Given the description of an element on the screen output the (x, y) to click on. 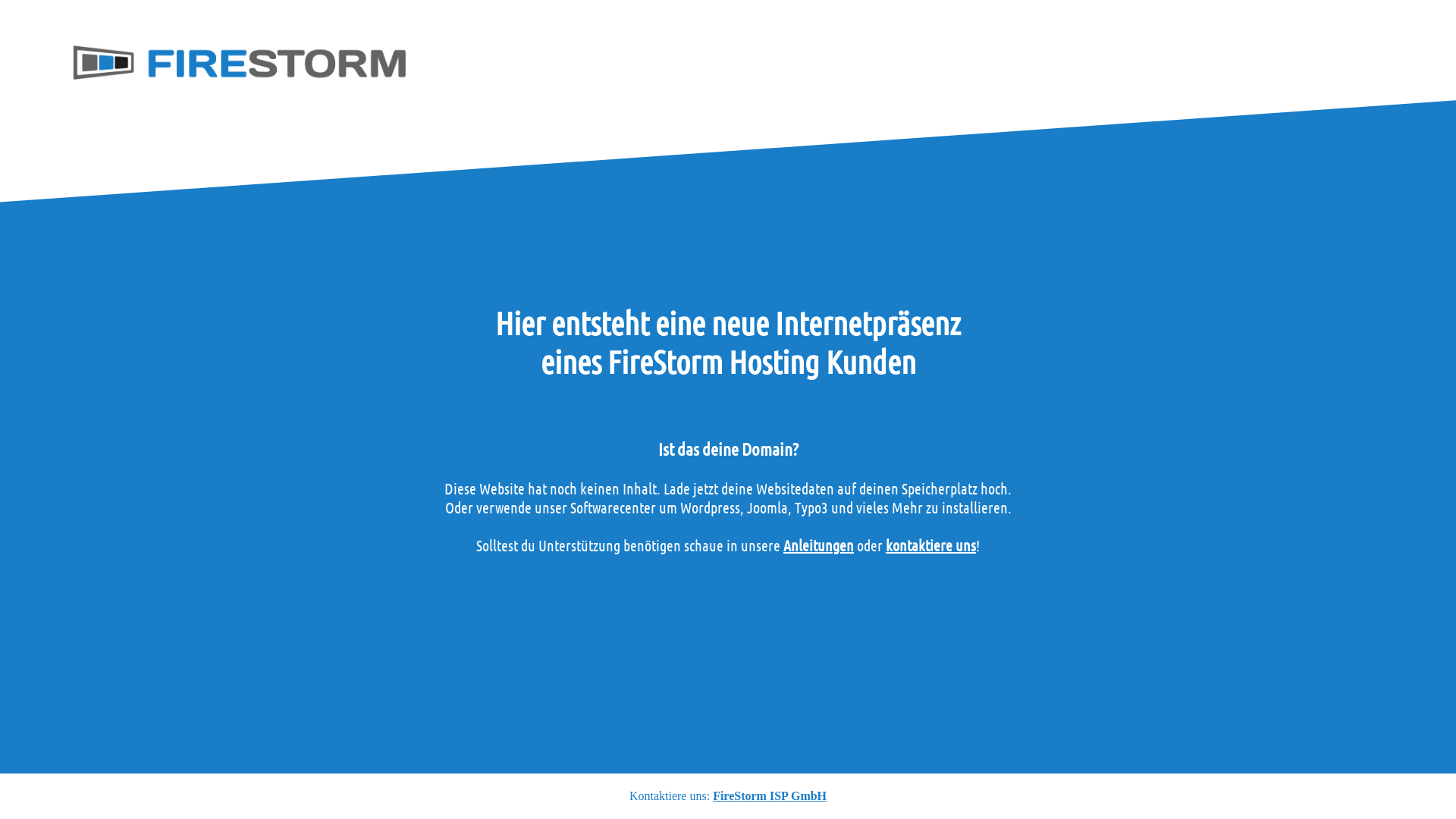
kontaktiere uns Element type: text (930, 545)
FireStorm ISP GmbH Element type: text (769, 795)
Anleitungen Element type: text (818, 545)
